Given the description of an element on the screen output the (x, y) to click on. 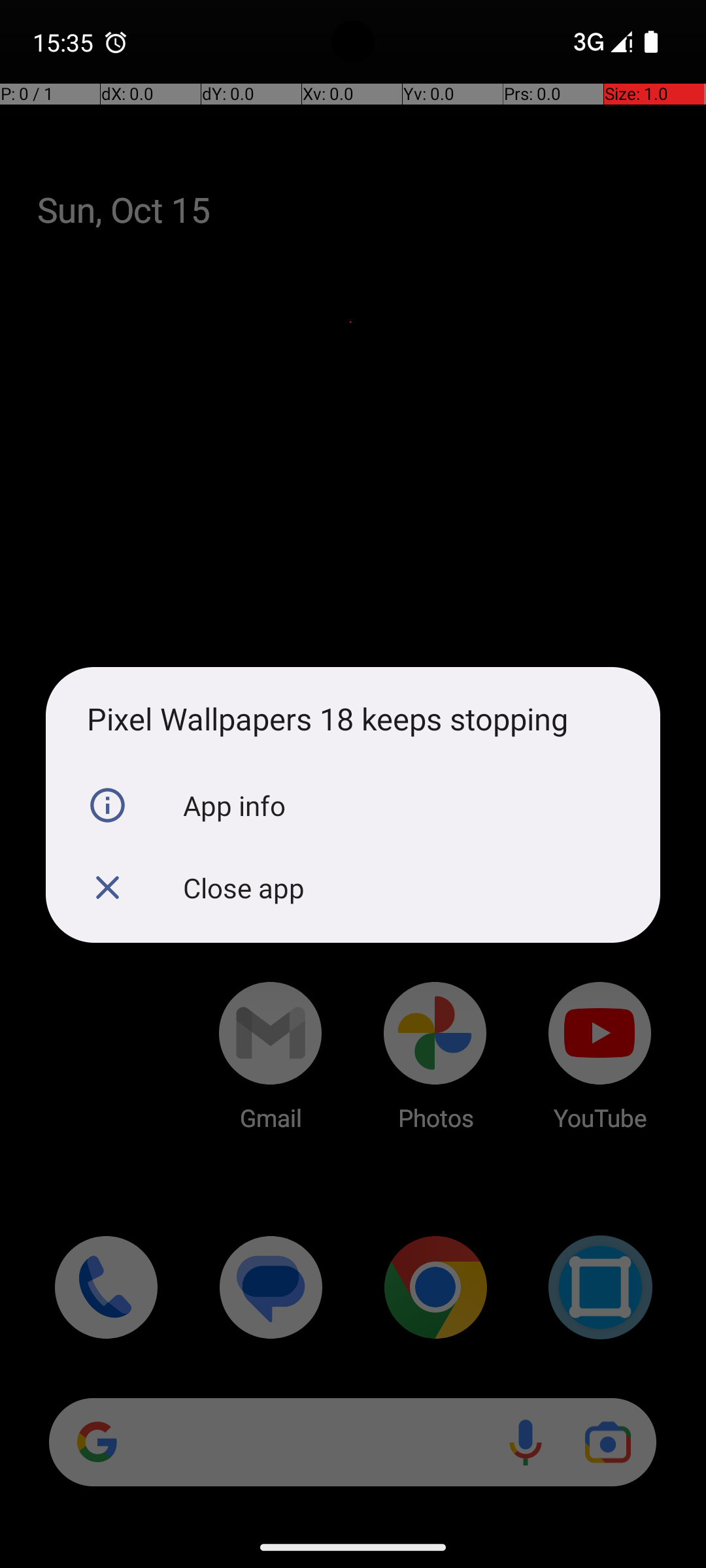
Pixel Wallpapers 18 keeps stopping Element type: android.widget.TextView (352, 717)
Close app Element type: android.widget.Button (352, 887)
